Given the description of an element on the screen output the (x, y) to click on. 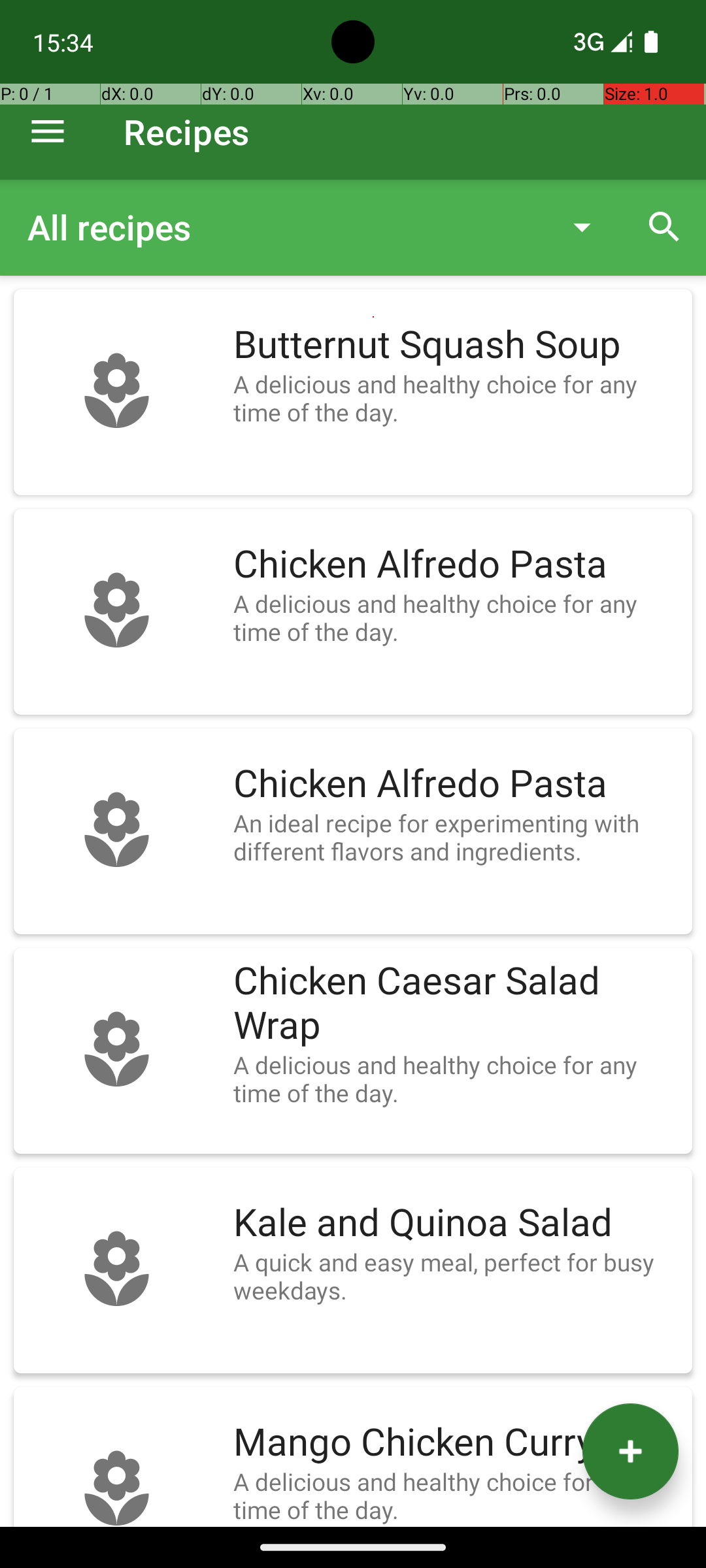
All recipes Element type: android.widget.TextView (283, 226)
Butternut Squash Soup Element type: android.widget.TextView (455, 344)
A delicious and healthy choice for any time of the day. Element type: android.widget.TextView (455, 397)
Chicken Alfredo Pasta Element type: android.widget.TextView (455, 564)
An ideal recipe for experimenting with different flavors and ingredients. Element type: android.widget.TextView (455, 836)
Chicken Caesar Salad Wrap Element type: android.widget.TextView (455, 1003)
Kale and Quinoa Salad Element type: android.widget.TextView (455, 1222)
A quick and easy meal, perfect for busy weekdays. Element type: android.widget.TextView (455, 1275)
Mango Chicken Curry Element type: android.widget.TextView (455, 1442)
